Given the description of an element on the screen output the (x, y) to click on. 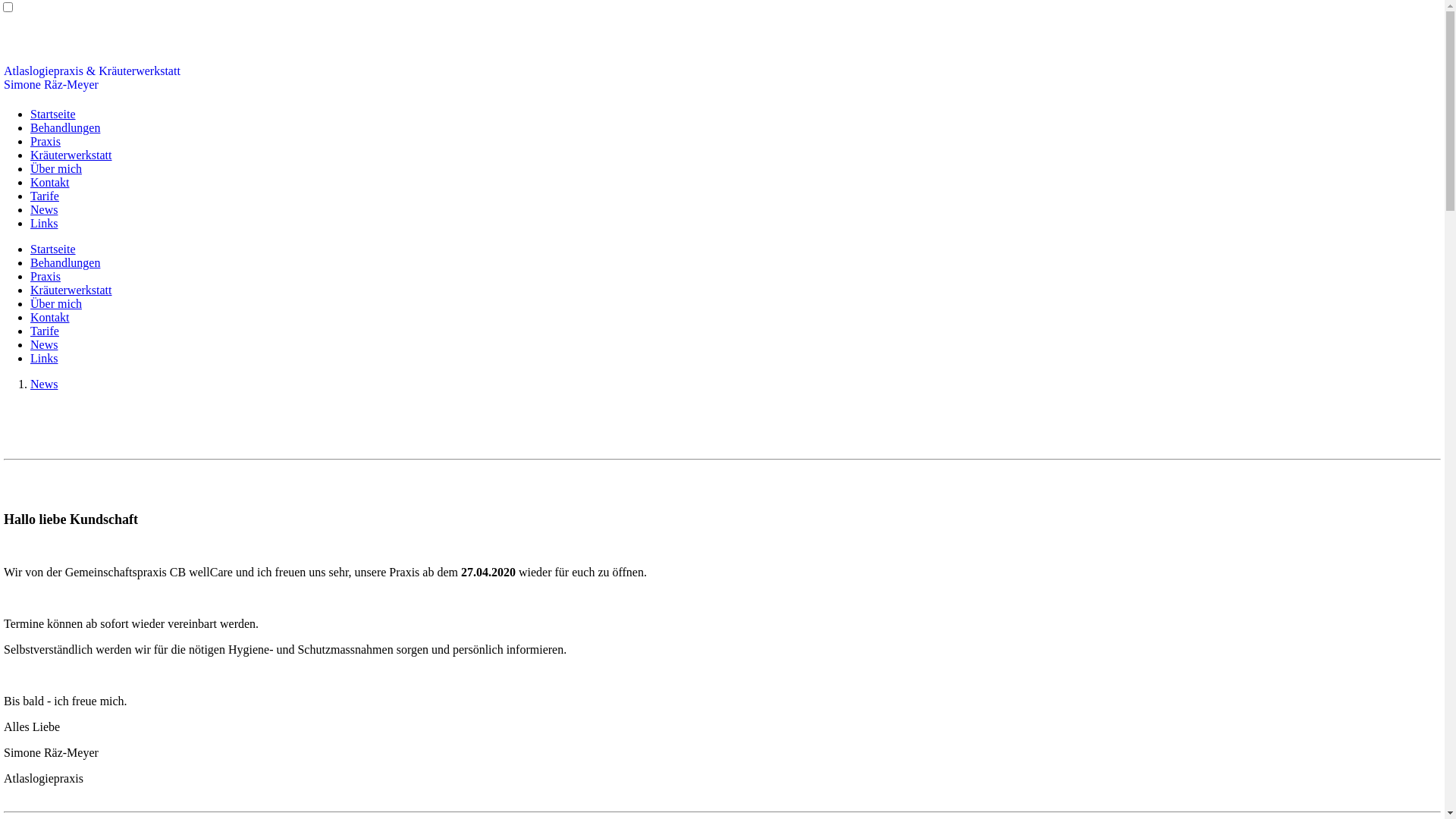
Startseite Element type: text (52, 113)
News Element type: text (43, 209)
Links Element type: text (43, 357)
Kontakt Element type: text (49, 316)
Tarife Element type: text (44, 330)
Startseite Element type: text (52, 248)
Links Element type: text (43, 222)
Praxis Element type: text (45, 275)
Tarife Element type: text (44, 195)
Behandlungen Element type: text (65, 127)
Behandlungen Element type: text (65, 262)
News Element type: text (43, 383)
News Element type: text (43, 344)
Kontakt Element type: text (49, 181)
Praxis Element type: text (45, 140)
